Given the description of an element on the screen output the (x, y) to click on. 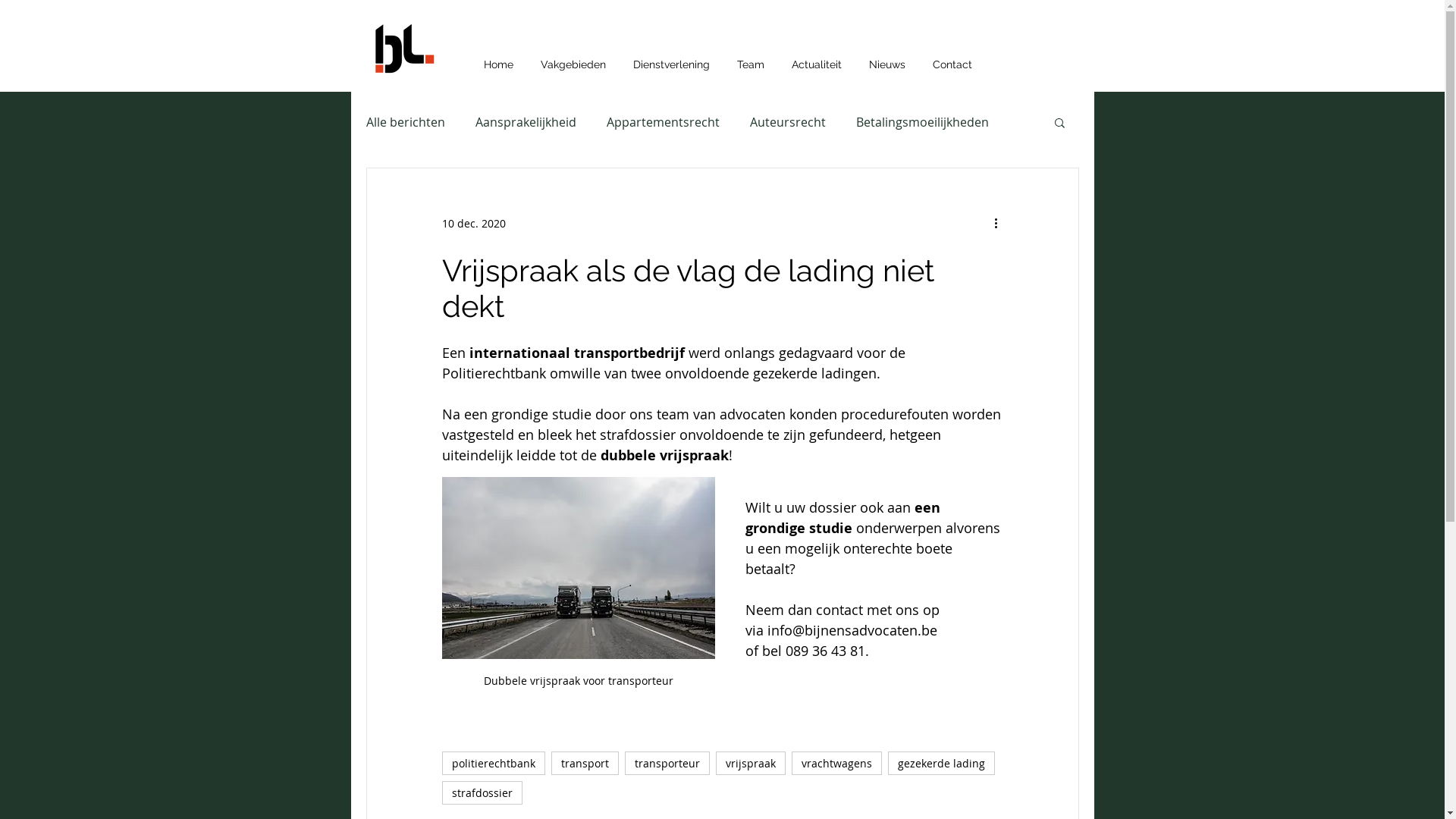
Betalingsmoeilijkheden Element type: text (921, 121)
Nieuws Element type: text (887, 57)
BL met rode stippen.png Element type: hover (402, 48)
Vakgebieden Element type: text (572, 57)
Appartementsrecht Element type: text (662, 121)
Actualiteit Element type: text (816, 57)
Auteursrecht Element type: text (787, 121)
vrachtwagens Element type: text (836, 763)
Dienstverlening Element type: text (670, 57)
Team Element type: text (750, 57)
Home Element type: text (498, 57)
strafdossier Element type: text (481, 792)
Aansprakelijkheid Element type: text (524, 121)
transport Element type: text (584, 763)
gezekerde lading Element type: text (940, 763)
Alle berichten Element type: text (404, 121)
vrijspraak Element type: text (750, 763)
Contact Element type: text (952, 57)
politierechtbank Element type: text (492, 763)
transporteur Element type: text (666, 763)
